Given the description of an element on the screen output the (x, y) to click on. 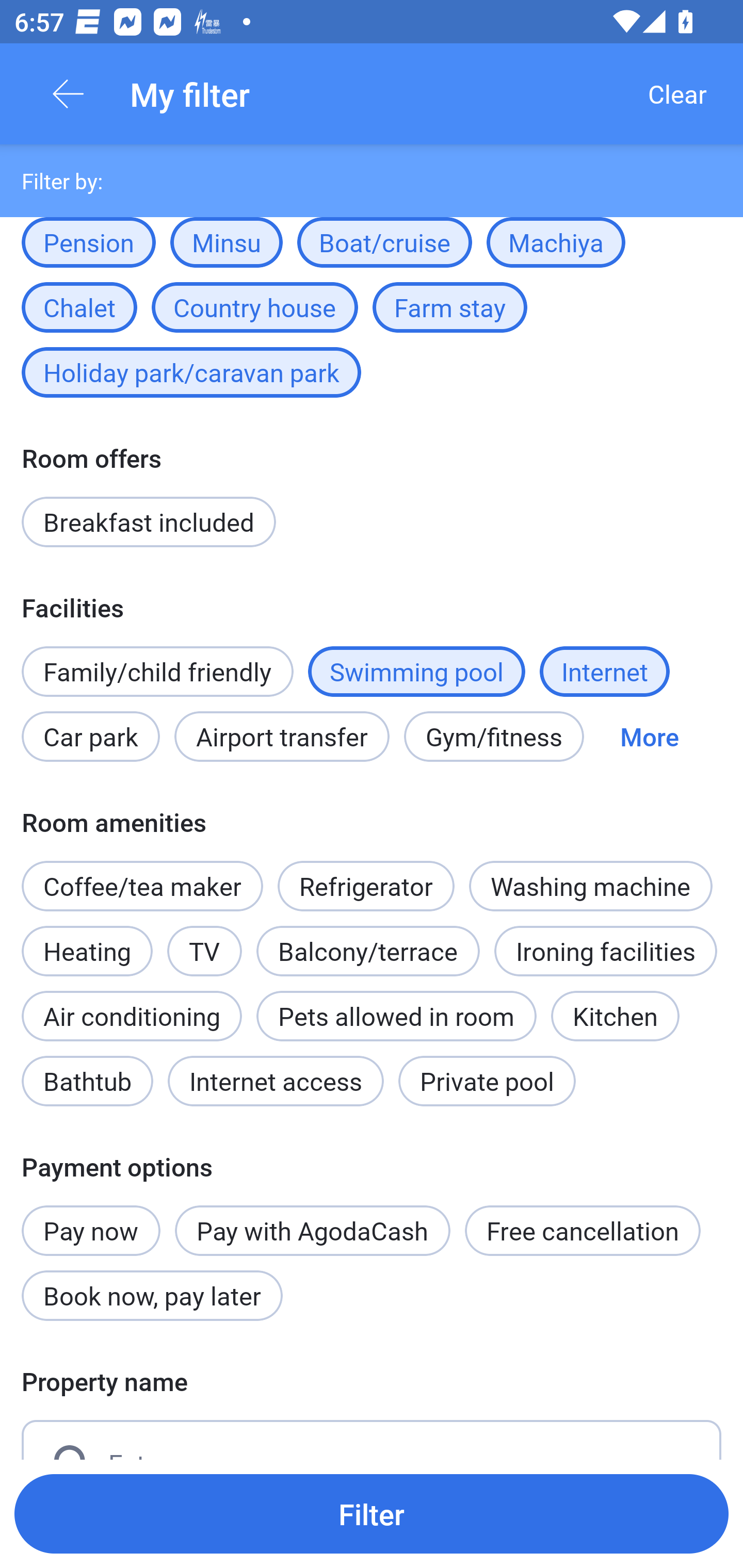
Clear (676, 93)
Breakfast included (148, 522)
Family/child friendly (157, 671)
Car park (90, 736)
Airport transfer (281, 736)
Gym/fitness (493, 736)
More (649, 736)
Coffee/tea maker (142, 886)
Refrigerator (365, 875)
Washing machine (590, 886)
Heating (87, 939)
TV (204, 950)
Balcony/terrace (367, 939)
Ironing facilities (605, 950)
Air conditioning (131, 1015)
Pets allowed in room (396, 1015)
Kitchen (615, 1015)
Bathtub (87, 1081)
Internet access (275, 1081)
Private pool (486, 1081)
Pay now (90, 1219)
Pay with AgodaCash (312, 1229)
Free cancellation (582, 1229)
Book now, pay later (152, 1295)
Filter (371, 1513)
